Given the description of an element on the screen output the (x, y) to click on. 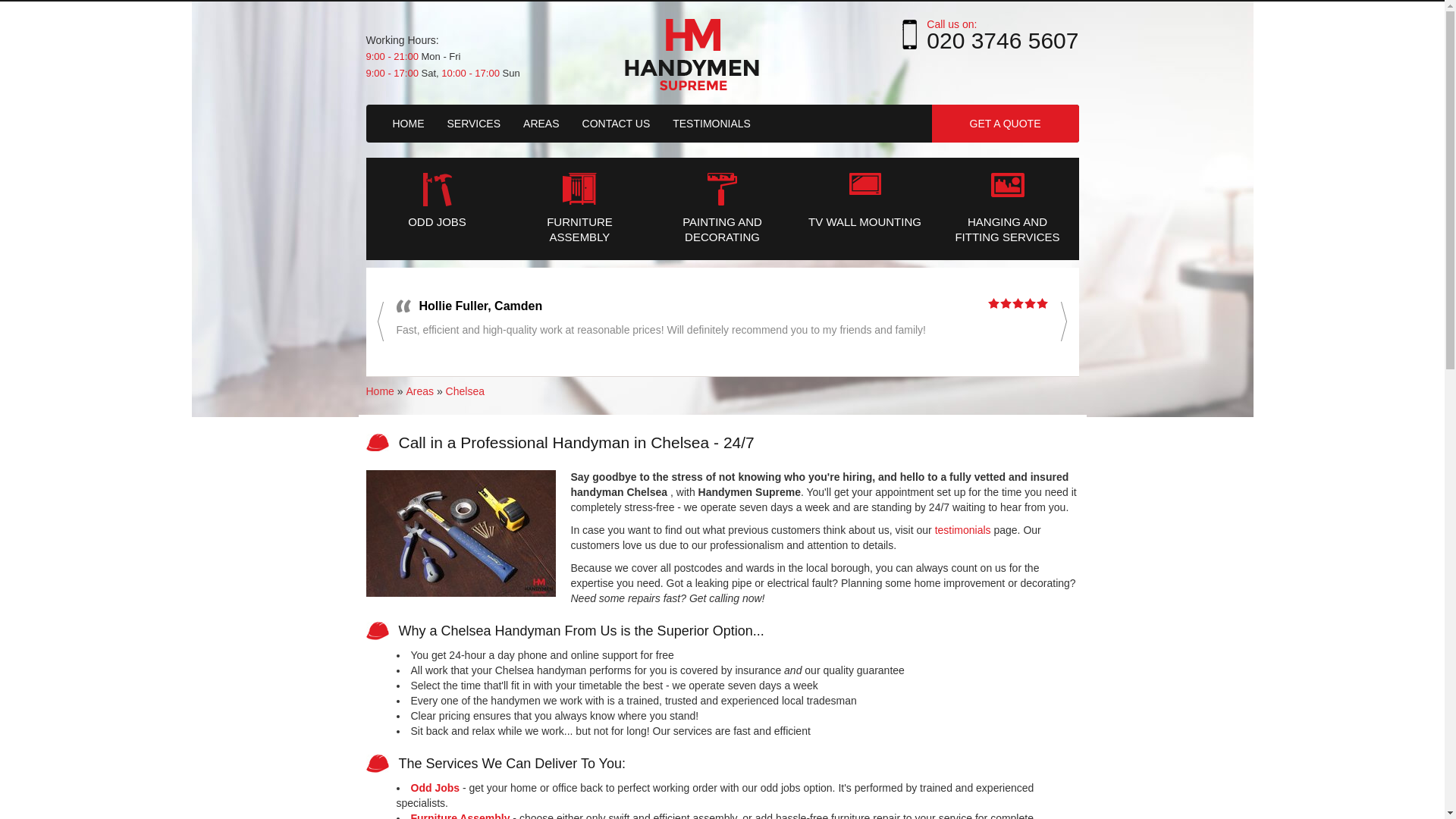
Contact us (616, 123)
Odd Jobs (436, 201)
Furniture Assembly (579, 209)
Areas We Cover (541, 123)
HOME (407, 123)
Chelsea (464, 390)
Home (380, 390)
FURNITURE ASSEMBLY (579, 209)
TV Wall Mounting (864, 201)
